Given the description of an element on the screen output the (x, y) to click on. 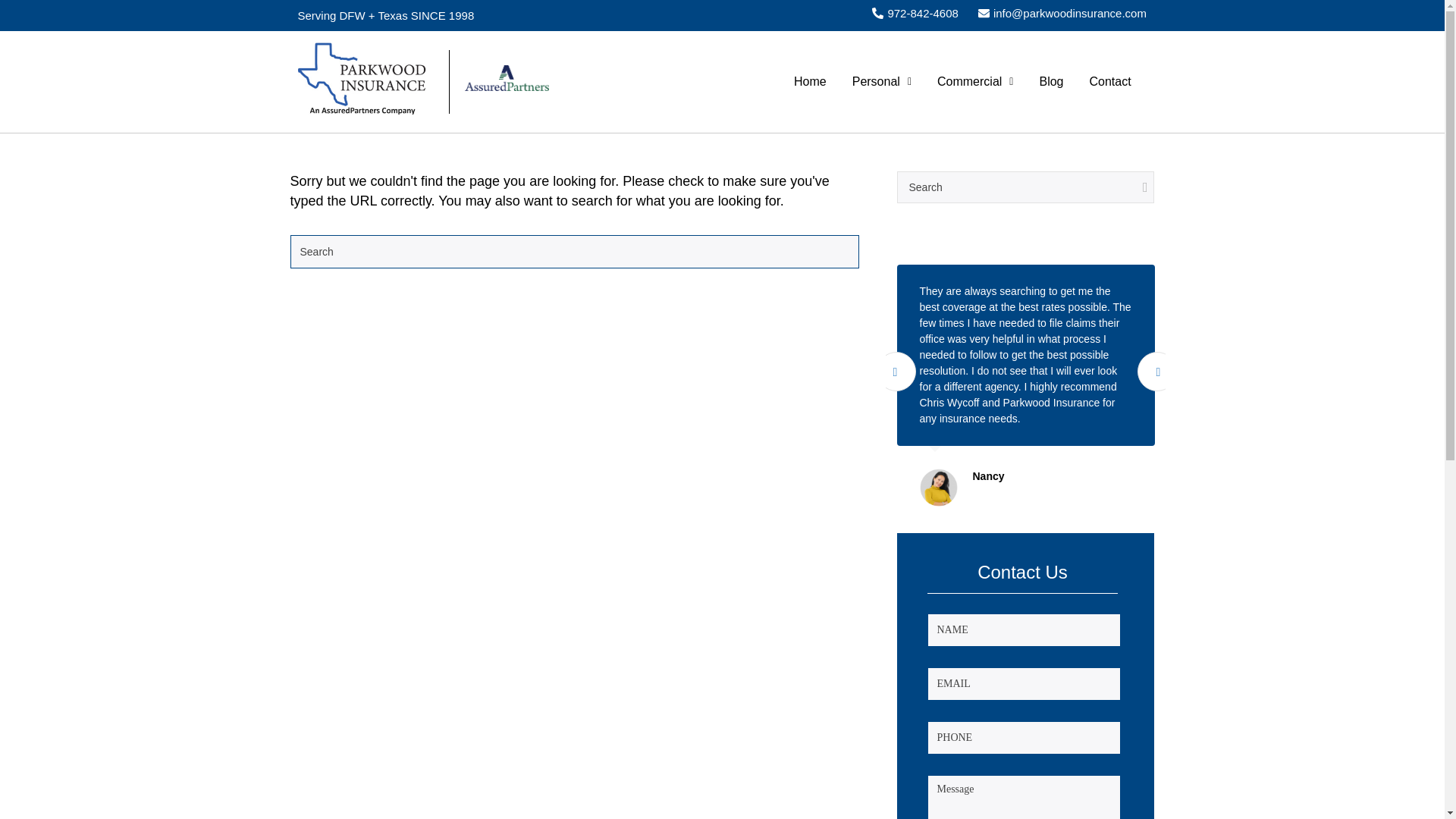
Personal (882, 81)
Home (810, 81)
Blog (1050, 81)
Commercial (975, 81)
Contact (1110, 81)
972-842-4608 (915, 13)
